Given the description of an element on the screen output the (x, y) to click on. 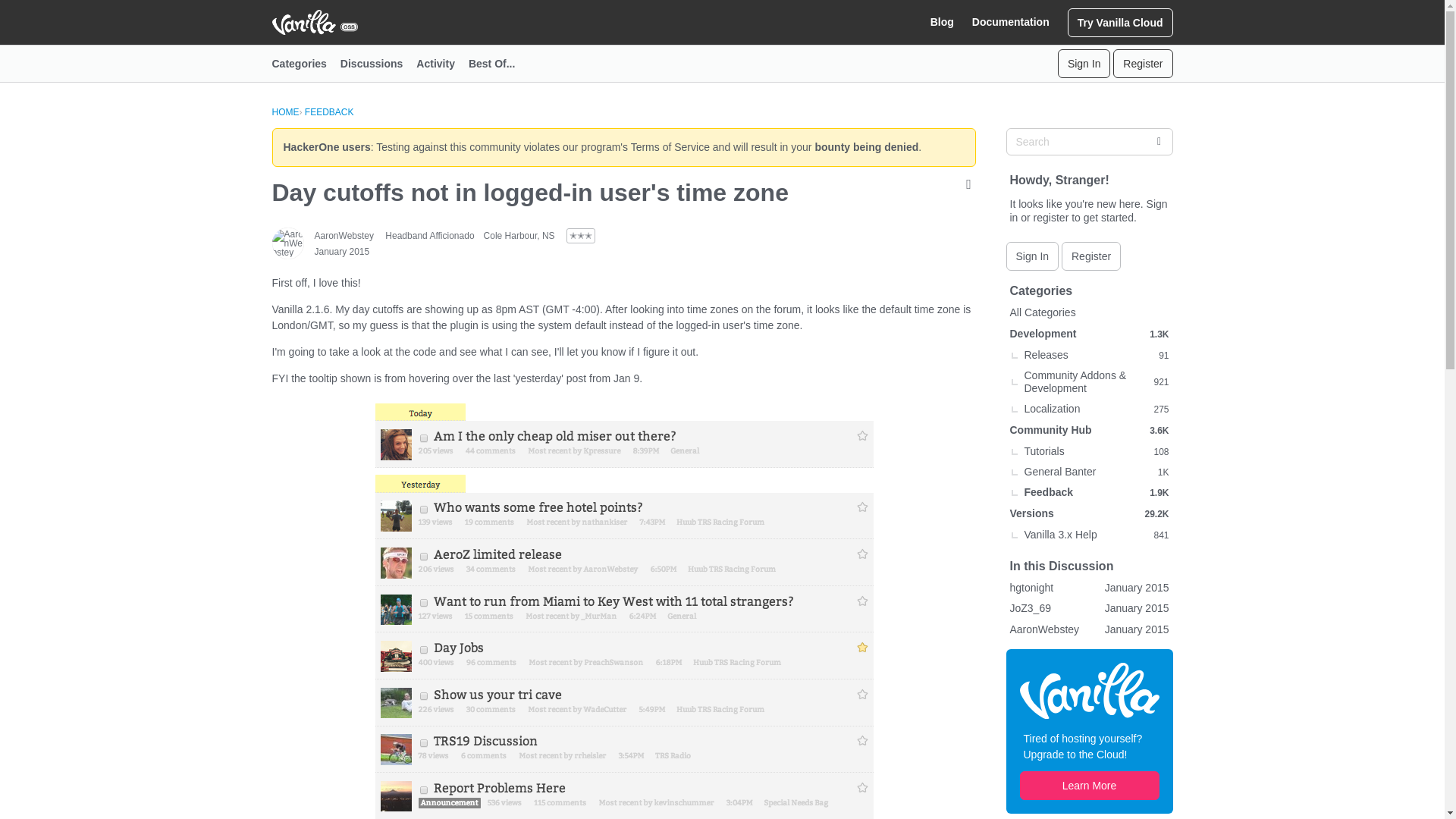
Try Vanilla Cloud (1120, 21)
Register (1142, 63)
Blog (942, 22)
Best Of... (498, 63)
January 2015 (341, 251)
Documentation (1011, 22)
Go (1158, 141)
AaronWebstey (344, 235)
January 11, 2015 1:03AM (341, 251)
FEEDBACK (328, 112)
Level 3 (580, 235)
Categories (304, 63)
Activity (442, 63)
Sign In (1084, 63)
Vanilla (1088, 690)
